Given the description of an element on the screen output the (x, y) to click on. 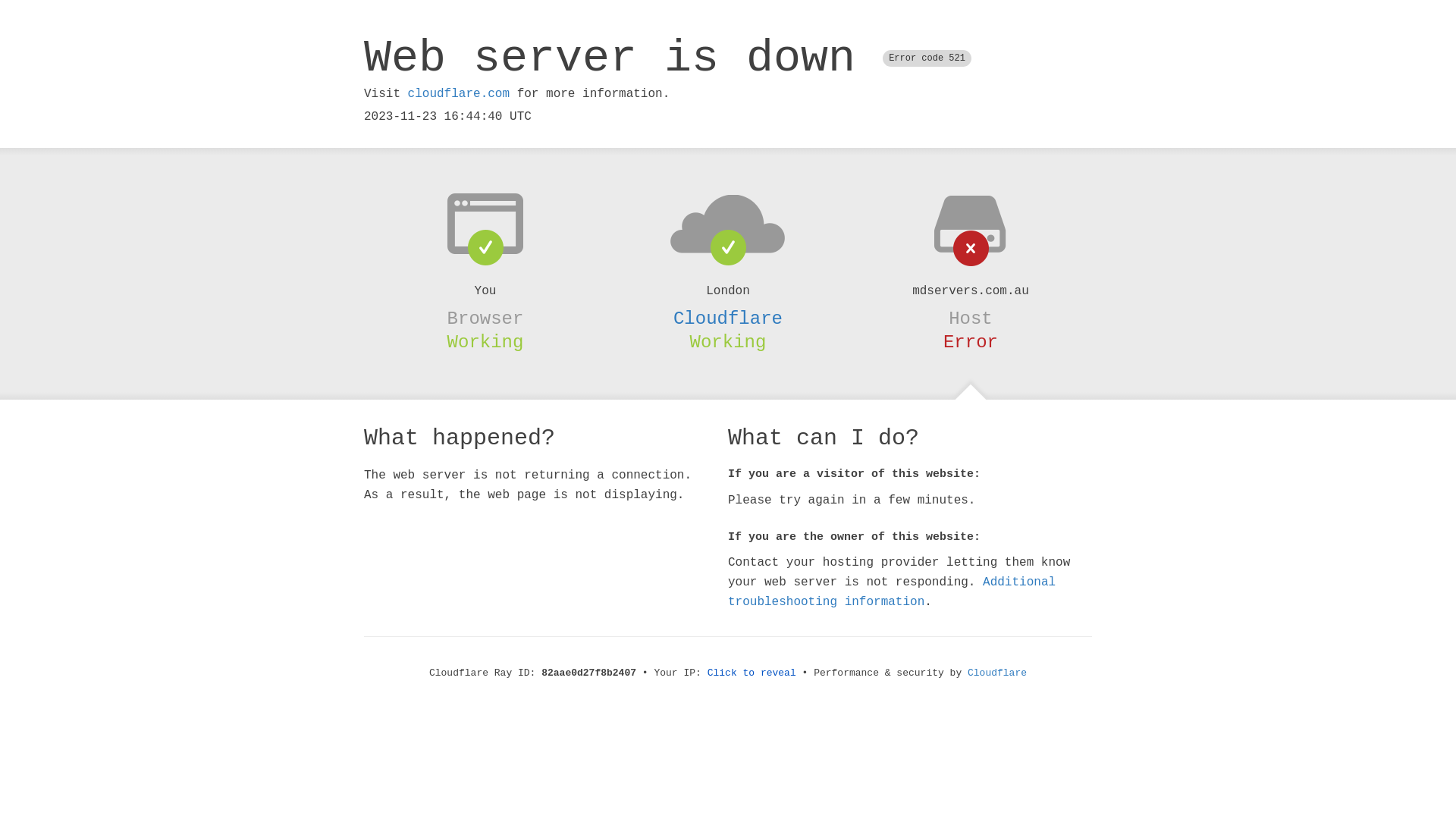
cloudflare.com Element type: text (458, 93)
Additional troubleshooting information Element type: text (891, 591)
Cloudflare Element type: text (727, 318)
Cloudflare Element type: text (996, 672)
Click to reveal Element type: text (751, 672)
